Given the description of an element on the screen output the (x, y) to click on. 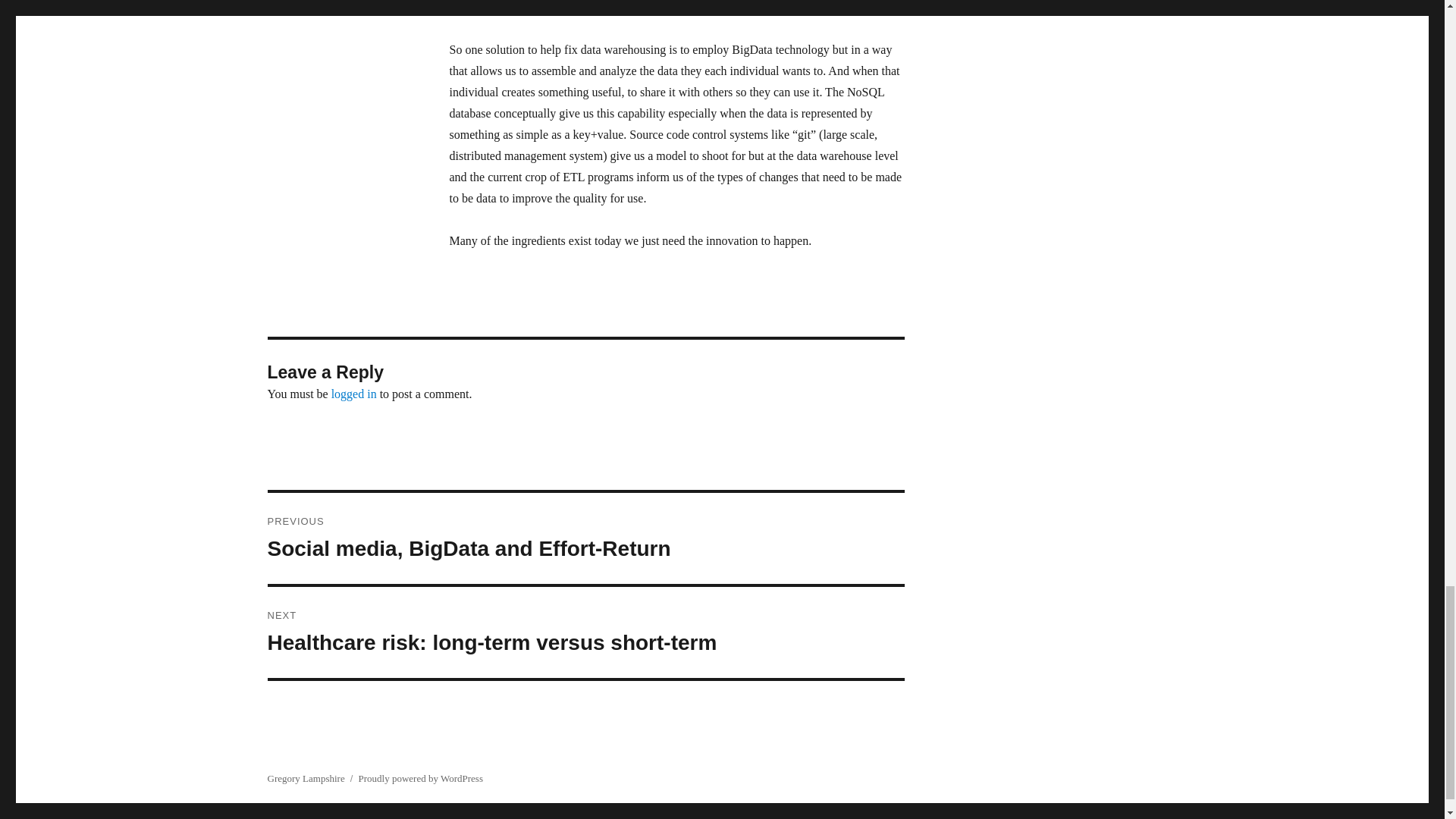
logged in (354, 393)
